Given the description of an element on the screen output the (x, y) to click on. 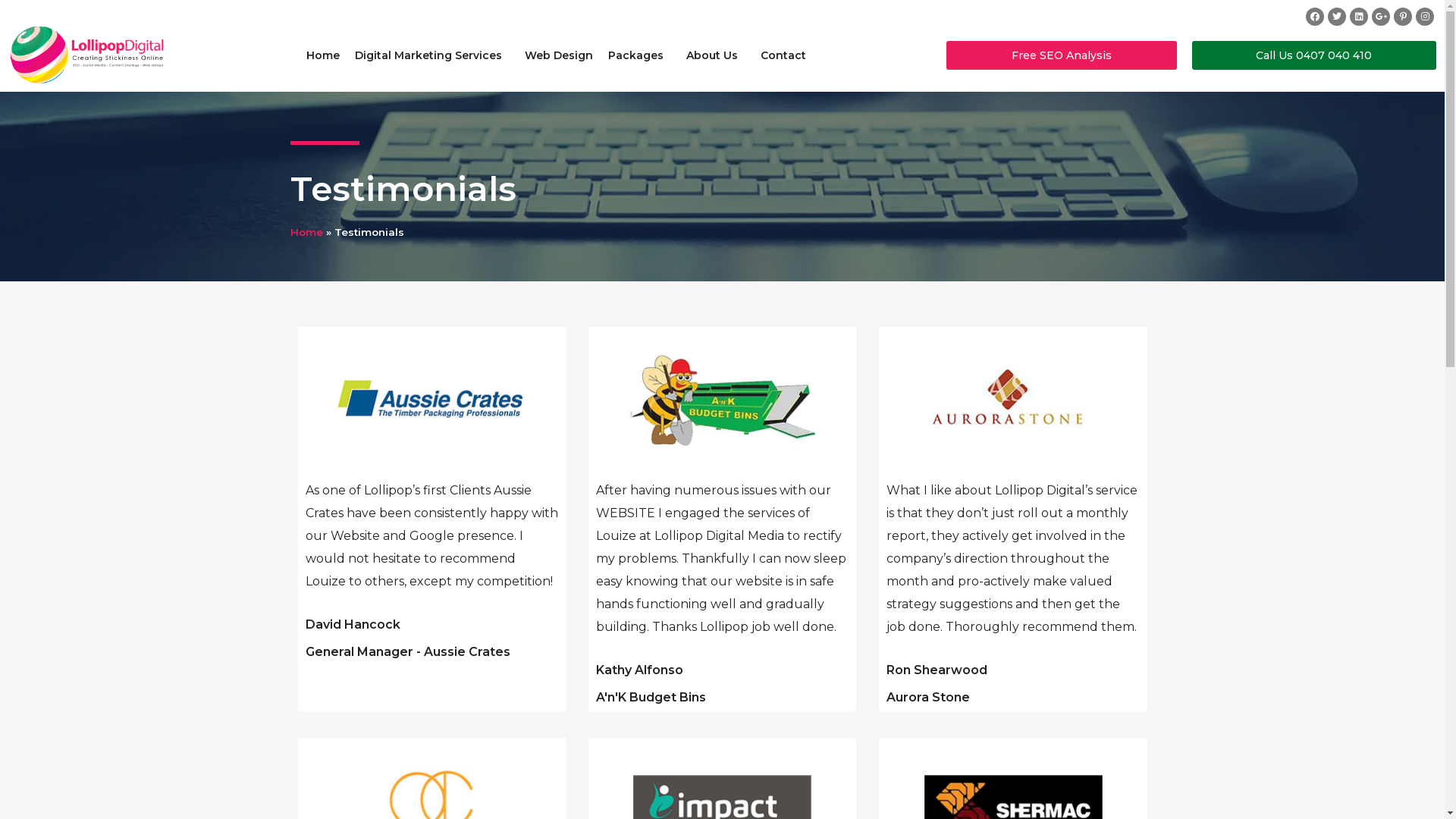
Free SEO Analysis Element type: text (1061, 54)
About Us Element type: text (715, 55)
Web Design Element type: text (558, 55)
Call Us 0407 040 410 Element type: text (1313, 54)
Home Element type: text (322, 55)
Packages Element type: text (639, 55)
Digital Marketing Services Element type: text (432, 55)
Contact Element type: text (783, 55)
Home Element type: text (305, 231)
